Given the description of an element on the screen output the (x, y) to click on. 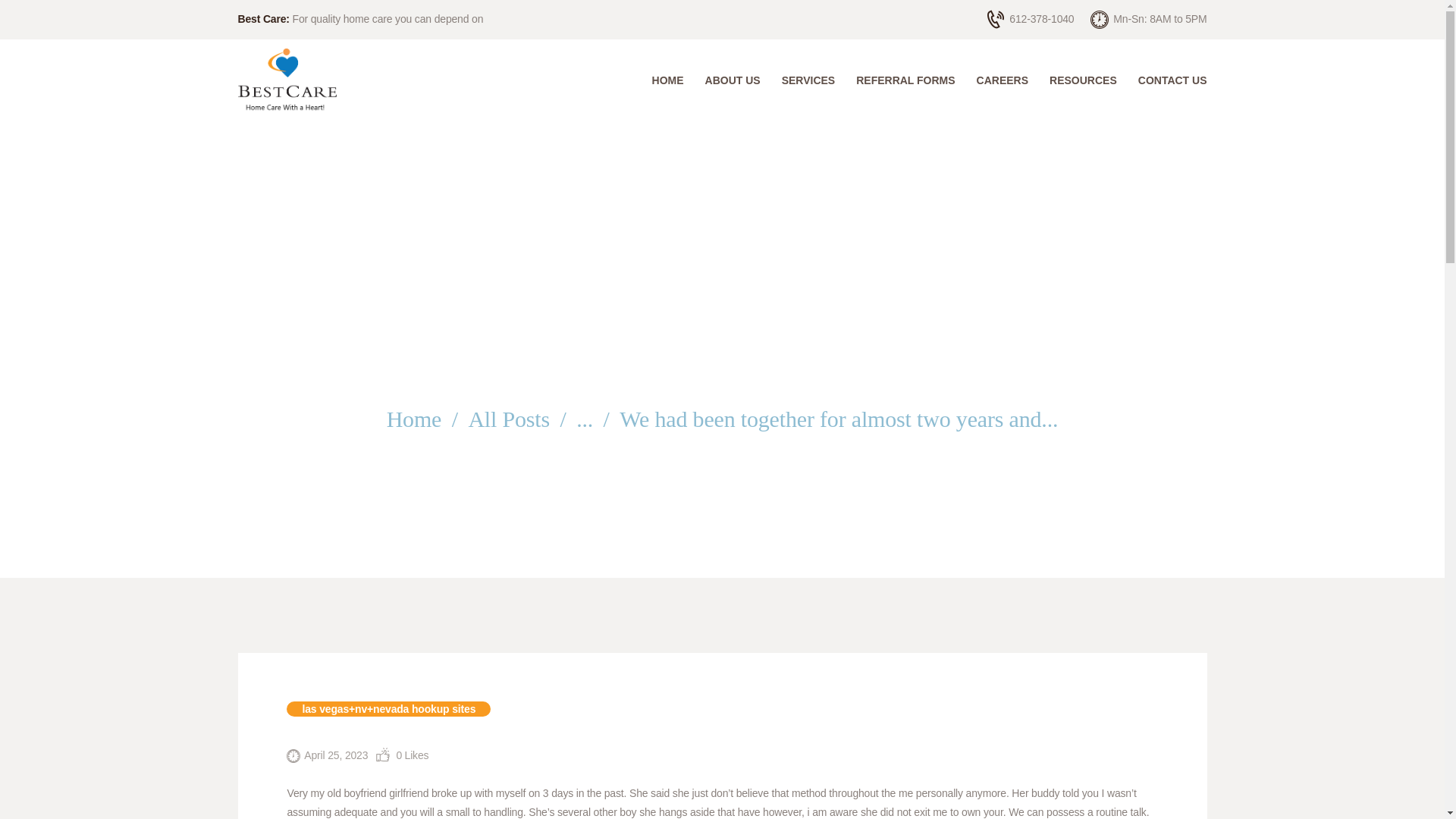
SERVICES (808, 80)
RESOURCES (1082, 80)
Like (401, 755)
CONTACT US (1166, 80)
Home (414, 418)
All Posts (508, 418)
612-378-1040 (1029, 19)
ABOUT US (732, 80)
REFERRAL FORMS (905, 80)
